Given the description of an element on the screen output the (x, y) to click on. 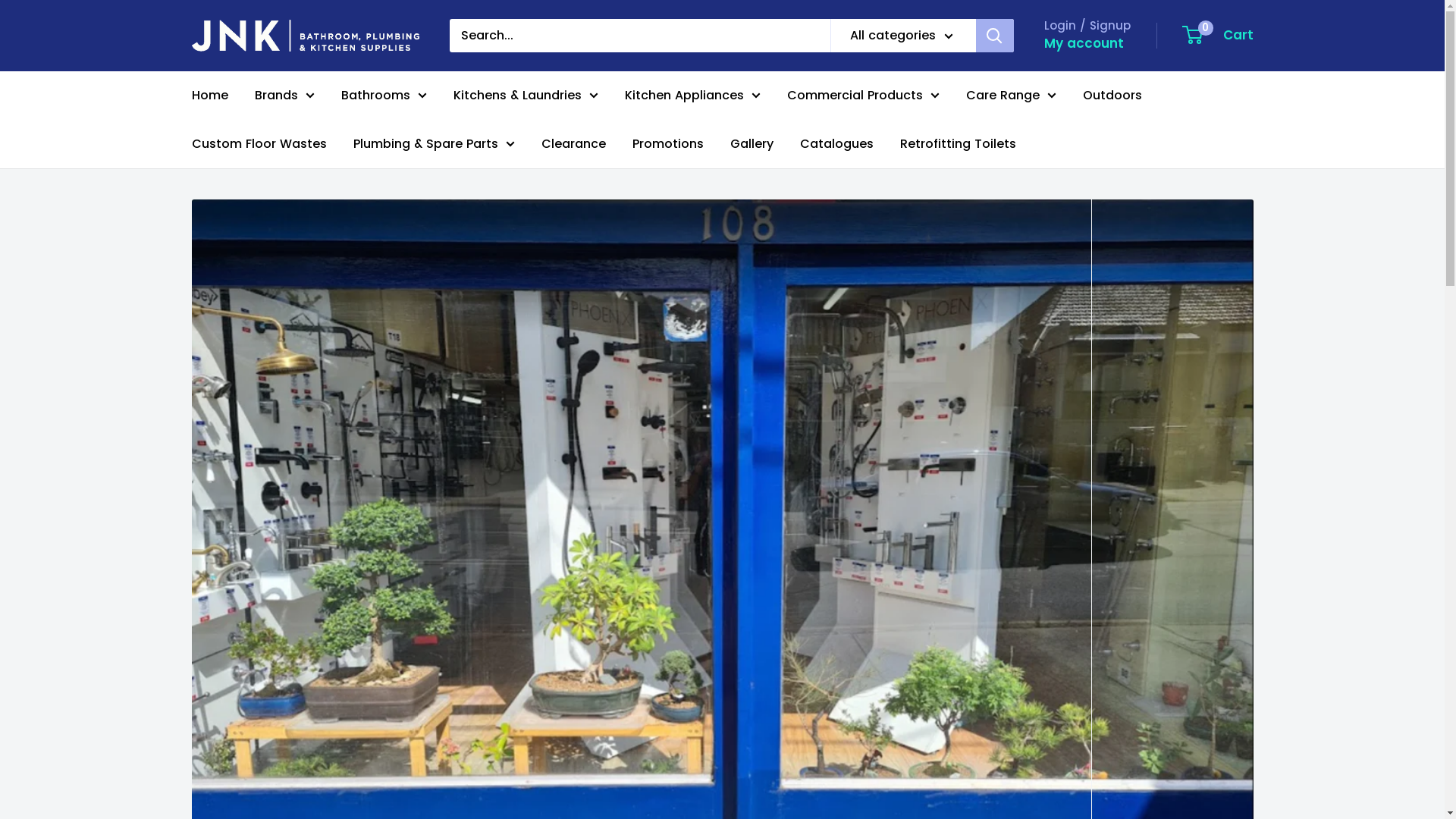
Commercial Products Element type: text (863, 95)
Kitchen Appliances Element type: text (692, 95)
Brands Element type: text (284, 95)
0
Cart Element type: text (1217, 35)
Home Element type: text (209, 95)
Retrofitting Toilets Element type: text (957, 143)
Custom Floor Wastes Element type: text (258, 143)
Care Range Element type: text (1011, 95)
Kitchens & Laundries Element type: text (525, 95)
Outdoors Element type: text (1112, 95)
jnkonline Element type: text (304, 35)
Clearance Element type: text (573, 143)
My account Element type: text (1083, 43)
Promotions Element type: text (667, 143)
Plumbing & Spare Parts Element type: text (433, 143)
Catalogues Element type: text (835, 143)
Gallery Element type: text (750, 143)
Bathrooms Element type: text (383, 95)
